Given the description of an element on the screen output the (x, y) to click on. 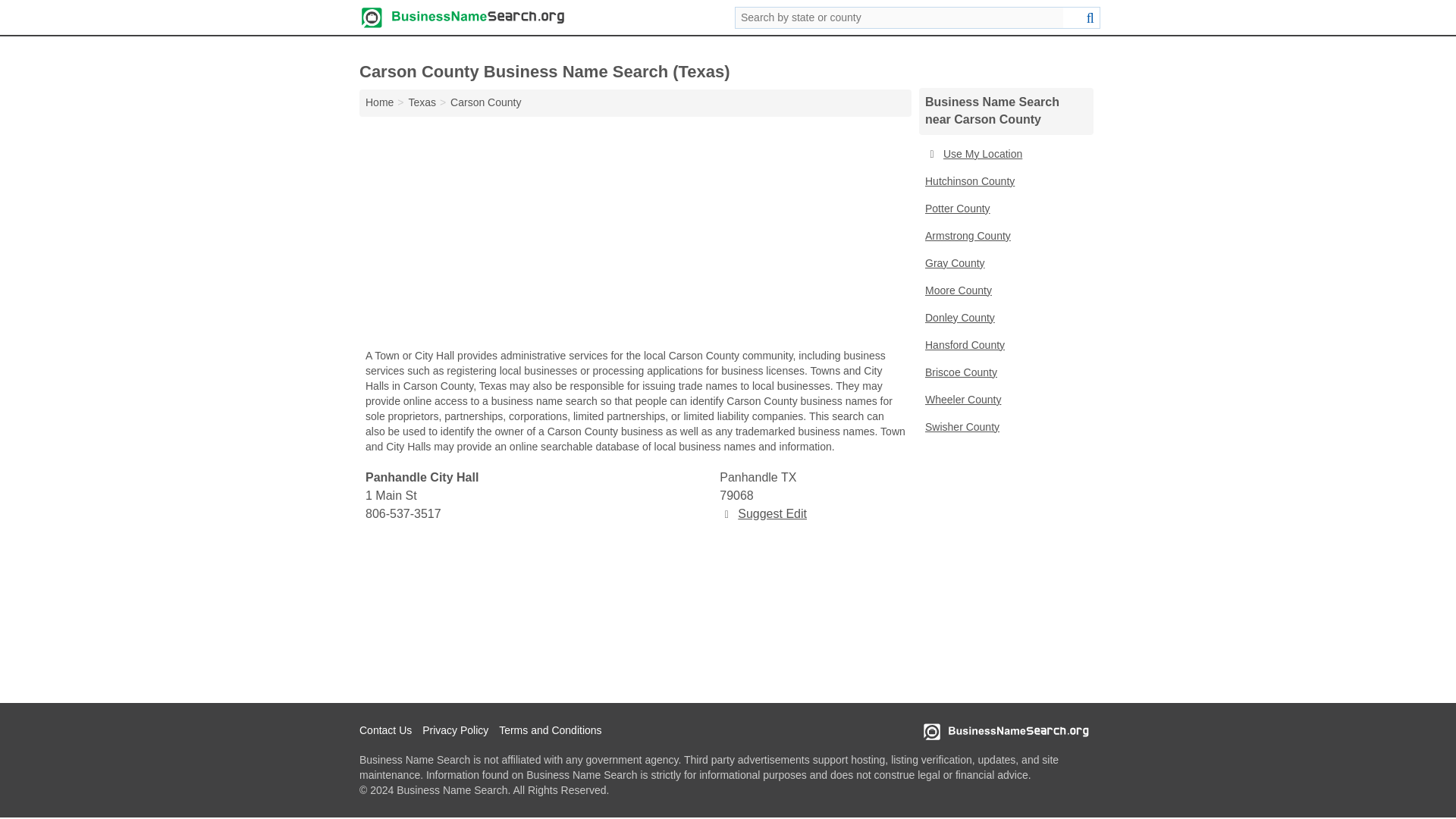
Advertisement (635, 236)
Home (379, 102)
Advertisement (635, 612)
Potter County (1005, 208)
Briscoe County (1005, 372)
Texas (421, 102)
Terms and Conditions (553, 730)
Carson County (485, 102)
Business Name Search (462, 16)
Swisher County (1005, 427)
